Given the description of an element on the screen output the (x, y) to click on. 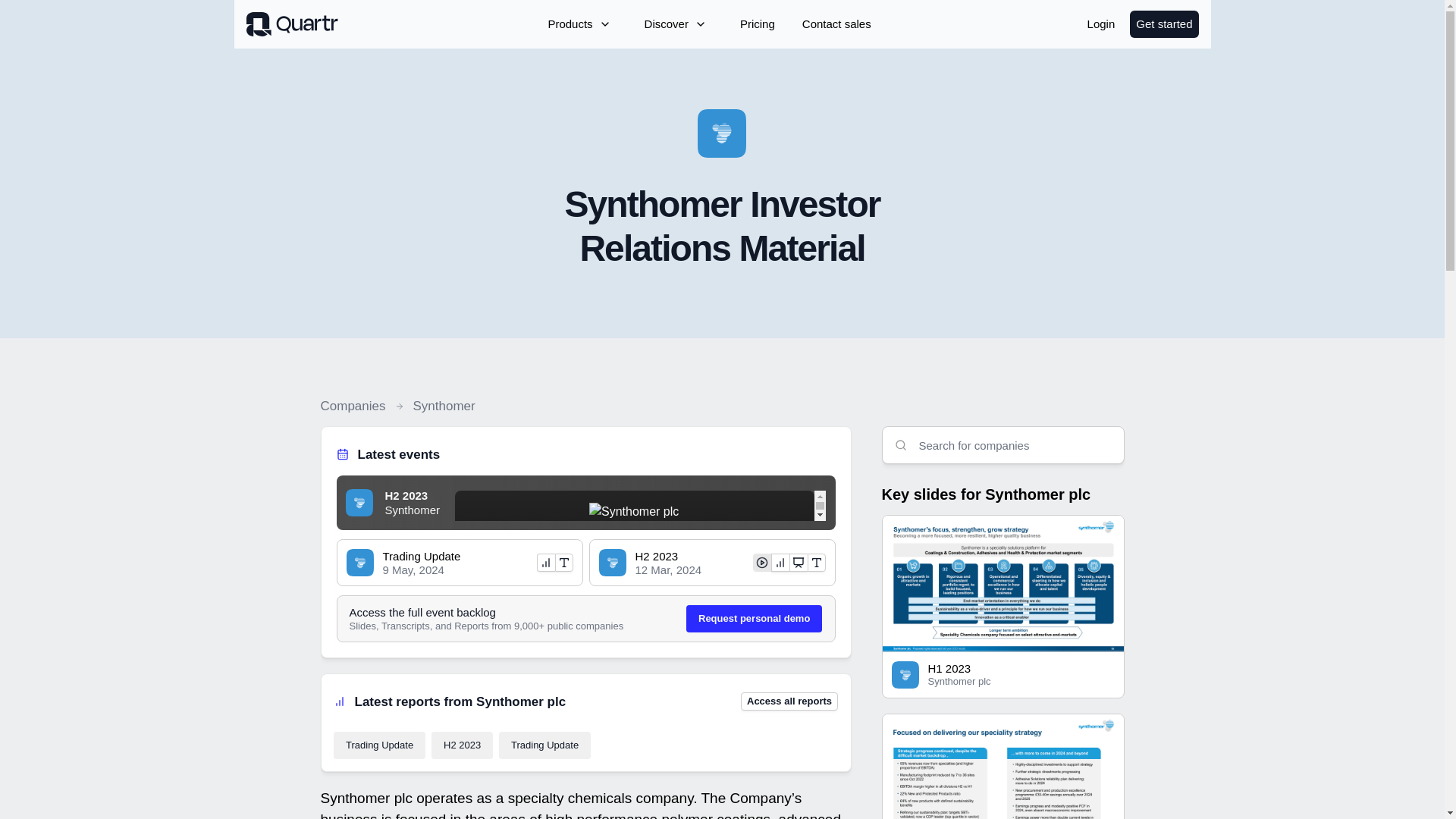
Companies (352, 406)
Access all reports (789, 701)
Contact sales (836, 23)
Request personal demo (753, 618)
Quartr Audio Player (639, 505)
H2 2023 (461, 745)
Login (1101, 23)
Trading Update (379, 745)
Trading Update (545, 745)
Synthomer (443, 406)
